Given the description of an element on the screen output the (x, y) to click on. 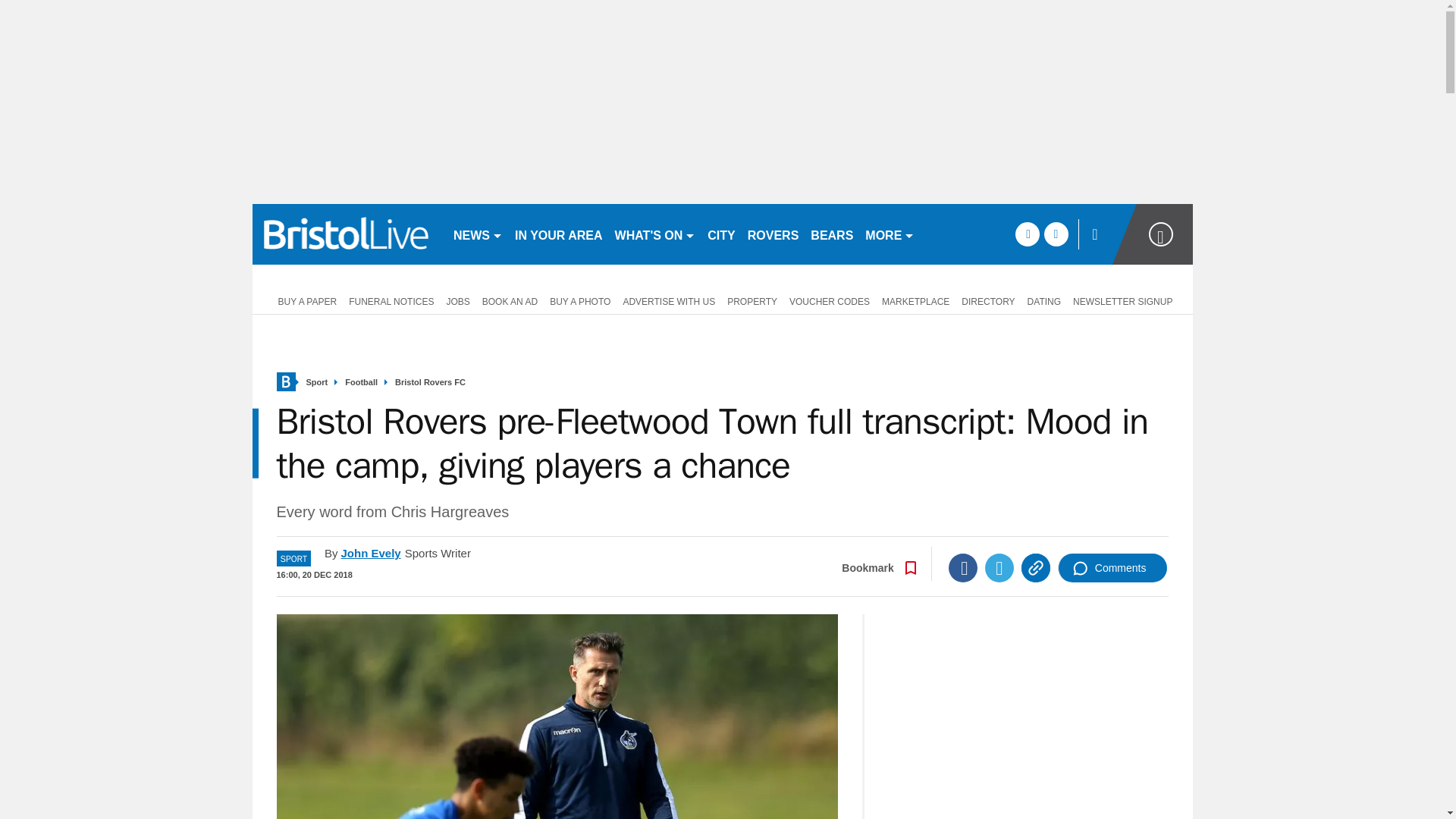
Twitter (999, 567)
Facebook (962, 567)
CITY (721, 233)
WHAT'S ON (654, 233)
Comments (1112, 567)
BEARS (832, 233)
ROVERS (773, 233)
facebook (1026, 233)
NEWS (477, 233)
bristolpost (345, 233)
MORE (889, 233)
twitter (1055, 233)
IN YOUR AREA (558, 233)
